Given the description of an element on the screen output the (x, y) to click on. 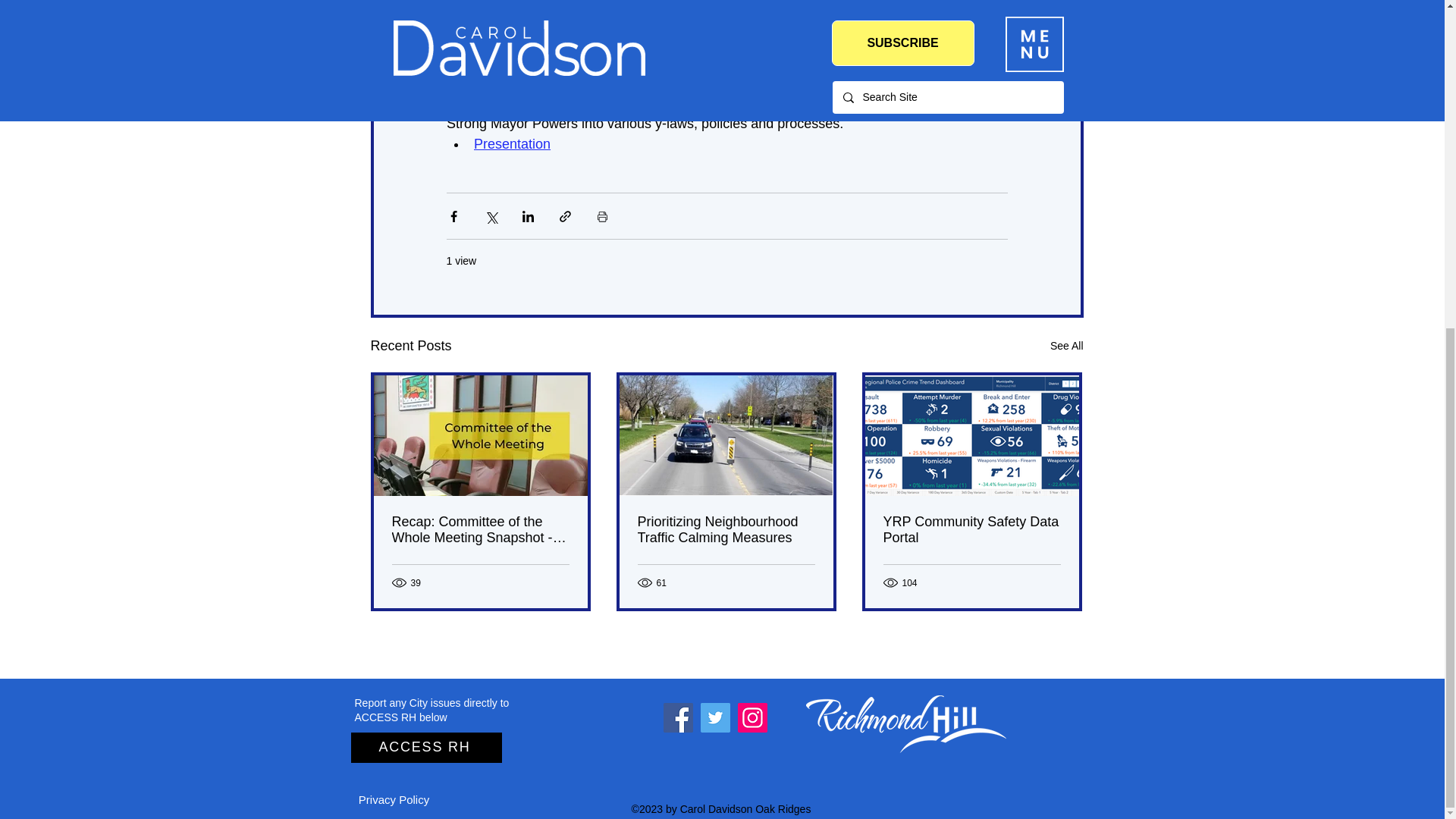
See All (1066, 345)
Presentation (511, 143)
YRP Community Safety Data Portal (970, 530)
Prioritizing Neighbourhood Traffic Calming Measures (725, 530)
Recap: Committee of the Whole Meeting Snapshot - Oct. 4 (480, 530)
ACCESS RH (425, 747)
Presentation (511, 61)
